Given the description of an element on the screen output the (x, y) to click on. 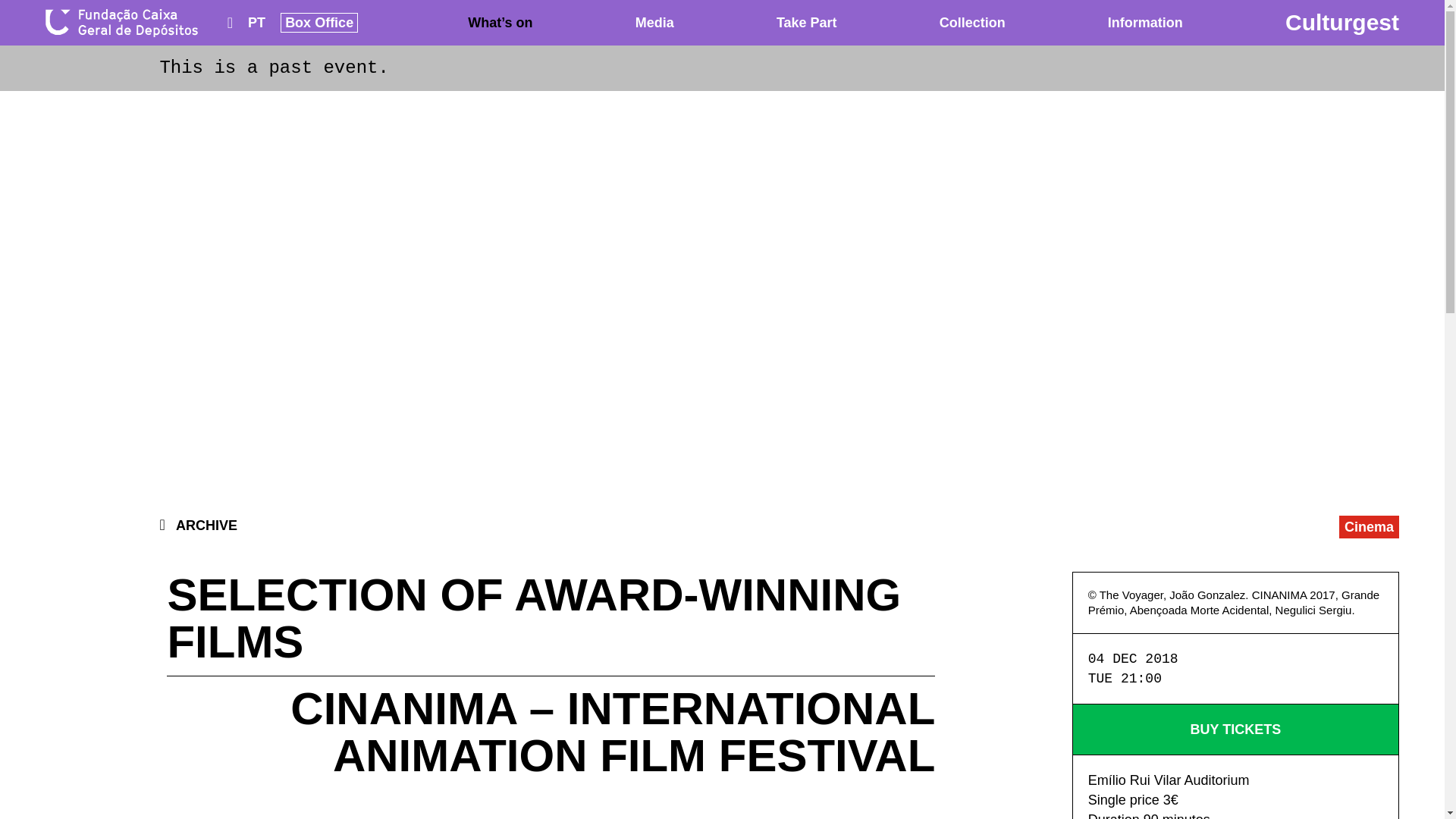
Box Office (319, 22)
Media (654, 22)
Collection (972, 22)
Culturgest (1342, 22)
PT (255, 22)
Take Part (806, 22)
Information (1145, 22)
